Given the description of an element on the screen output the (x, y) to click on. 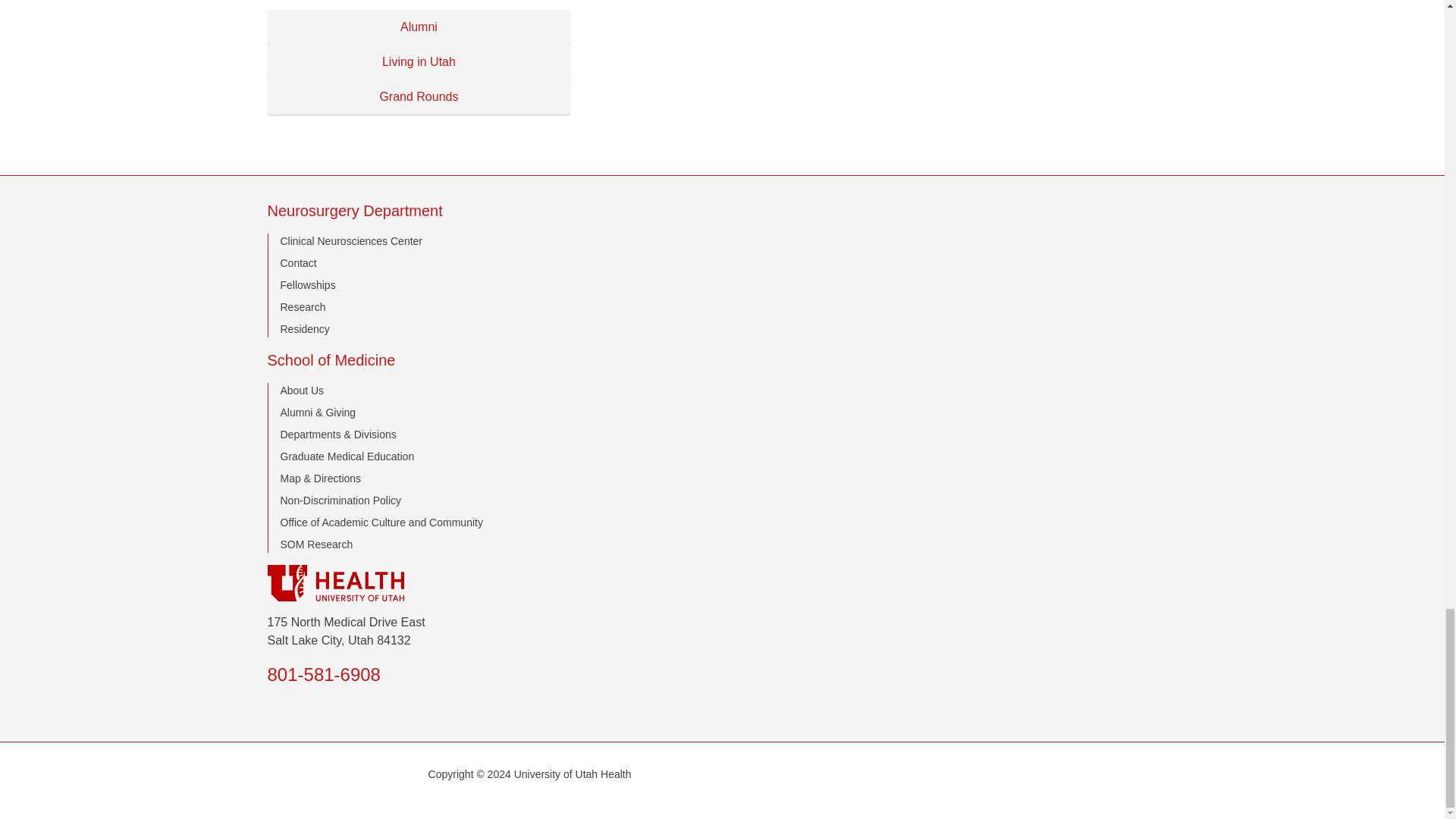
University of Utah Healthcare (721, 582)
Living in Utah (418, 62)
Alumni (418, 27)
